Given the description of an element on the screen output the (x, y) to click on. 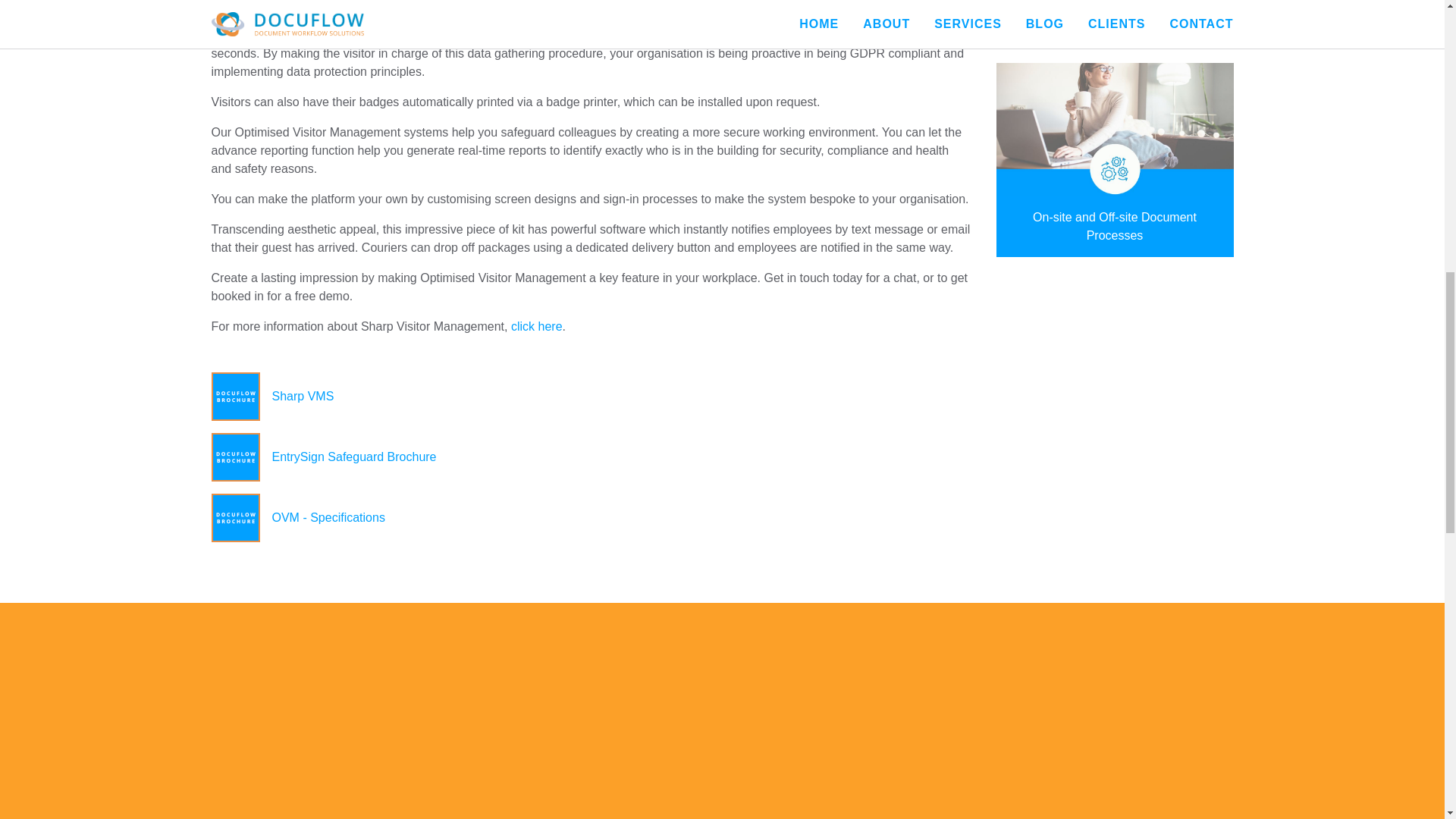
Sharp VMS (591, 396)
On-site and Off-site Document Processes (1114, 160)
Postal Solutions (1114, 19)
EntrySign Safeguard Brochure (591, 457)
OVM - Specifications (591, 517)
click here (536, 326)
